Given the description of an element on the screen output the (x, y) to click on. 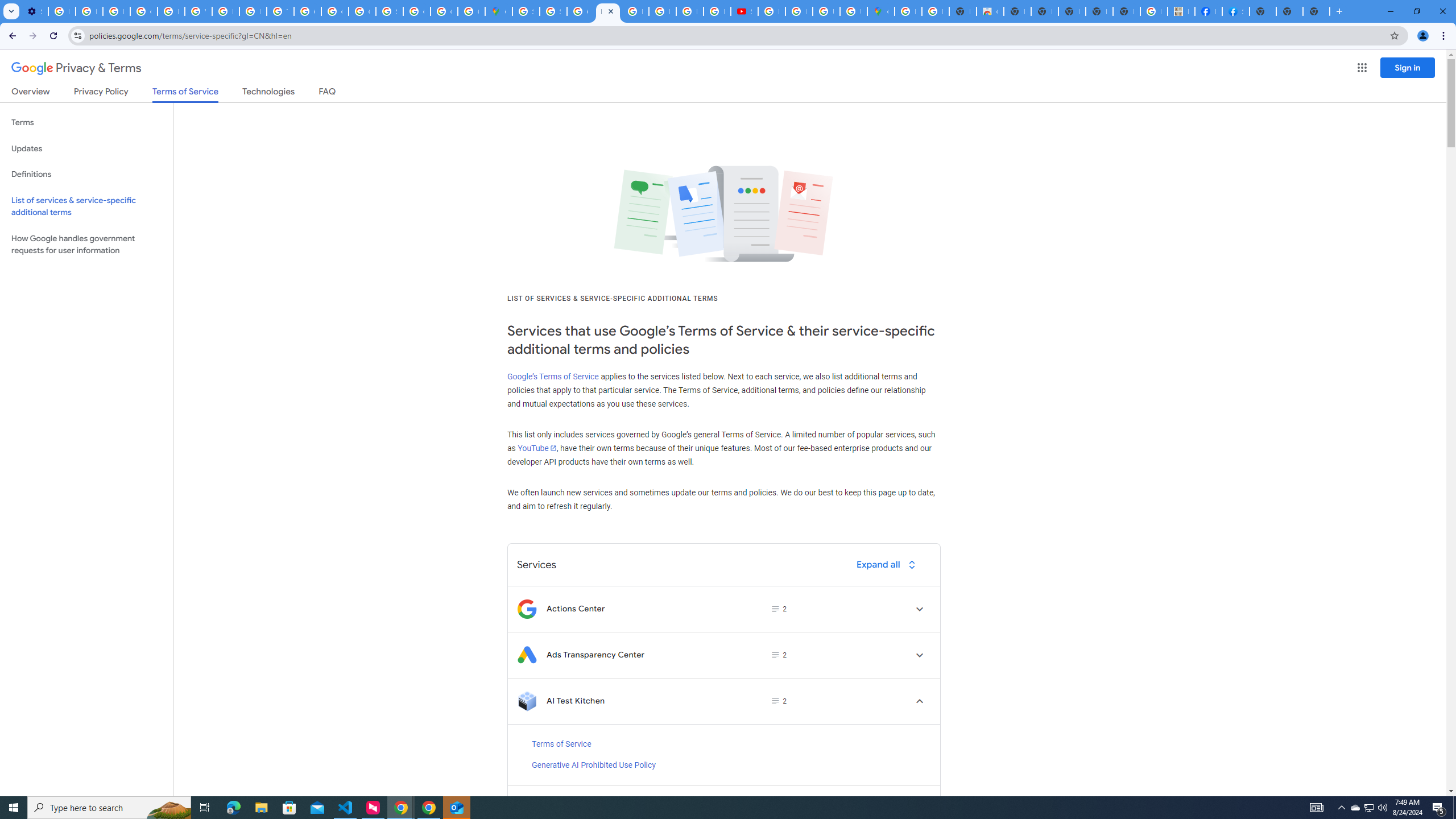
Miley Cyrus | Facebook (1208, 11)
New Tab (1262, 11)
Expand all (888, 564)
Settings - Customize profile (34, 11)
Privacy Help Center - Policies Help (253, 11)
Subscriptions - YouTube (743, 11)
